Given the description of an element on the screen output the (x, y) to click on. 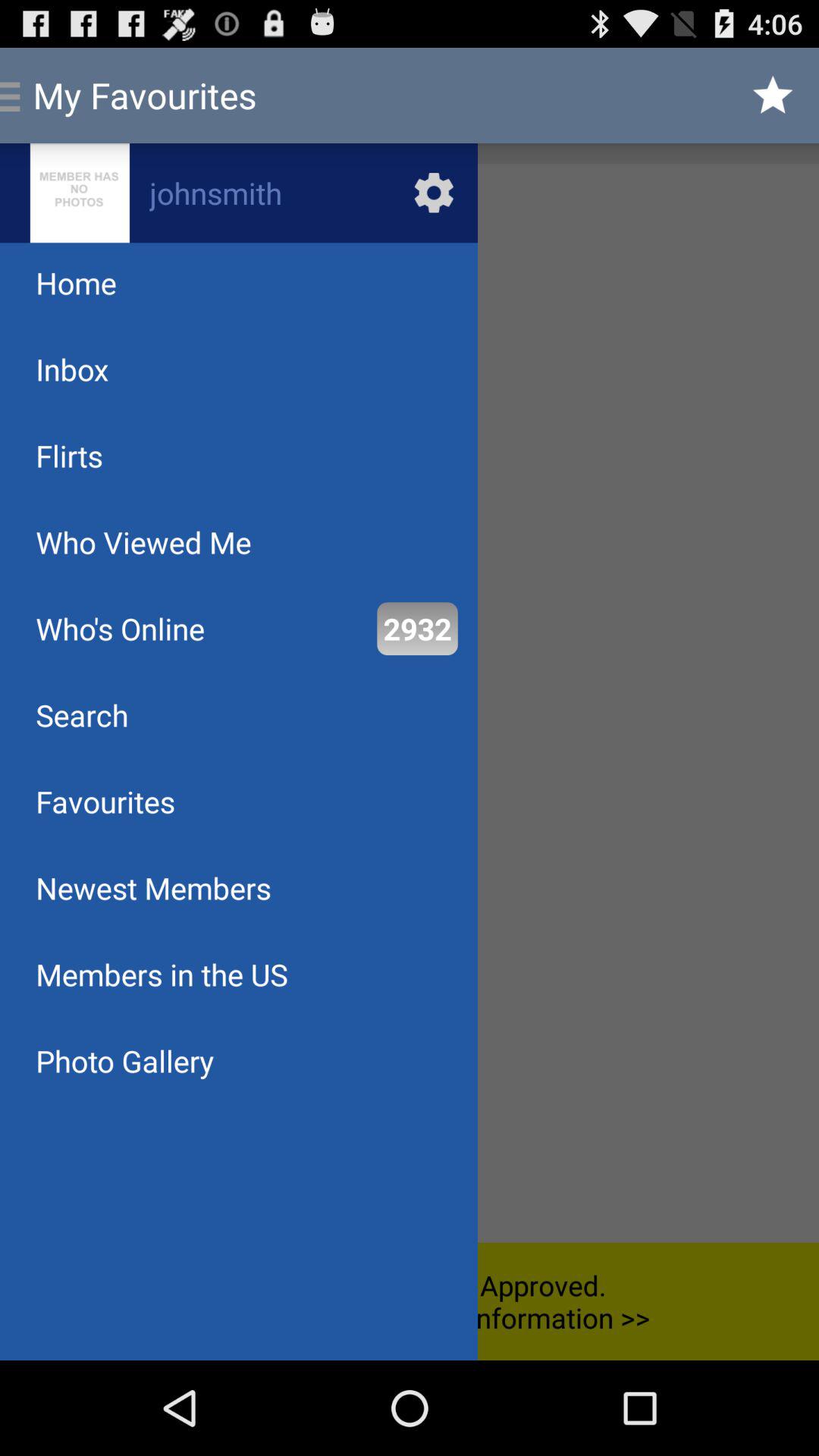
launch icon above the search item (119, 628)
